Given the description of an element on the screen output the (x, y) to click on. 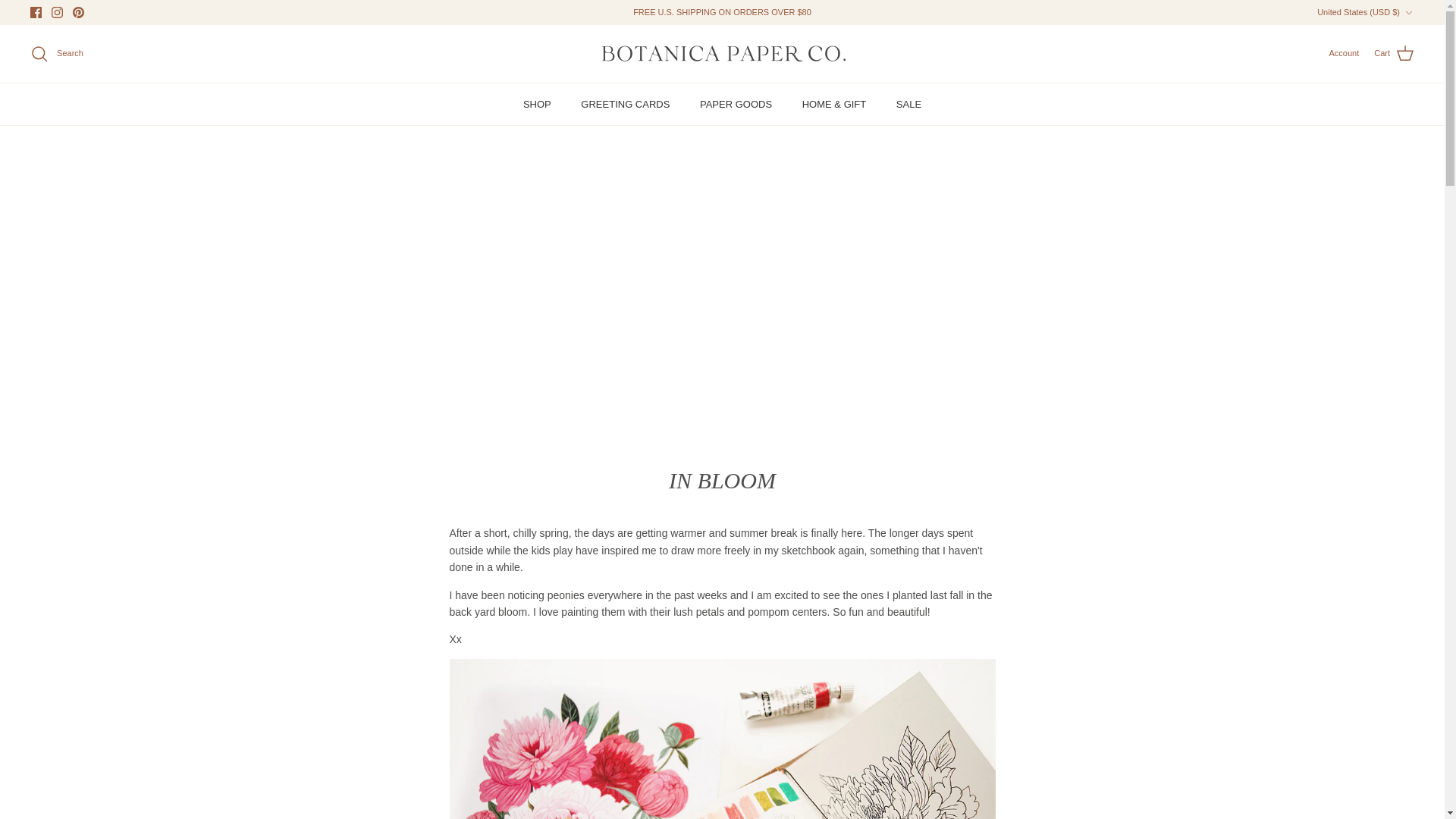
Facebook (36, 12)
Instagram (56, 12)
Instagram (56, 12)
Botanica Paper Co (721, 53)
Pinterest (78, 12)
Pinterest (78, 12)
Facebook (36, 12)
Down (1408, 12)
